Given the description of an element on the screen output the (x, y) to click on. 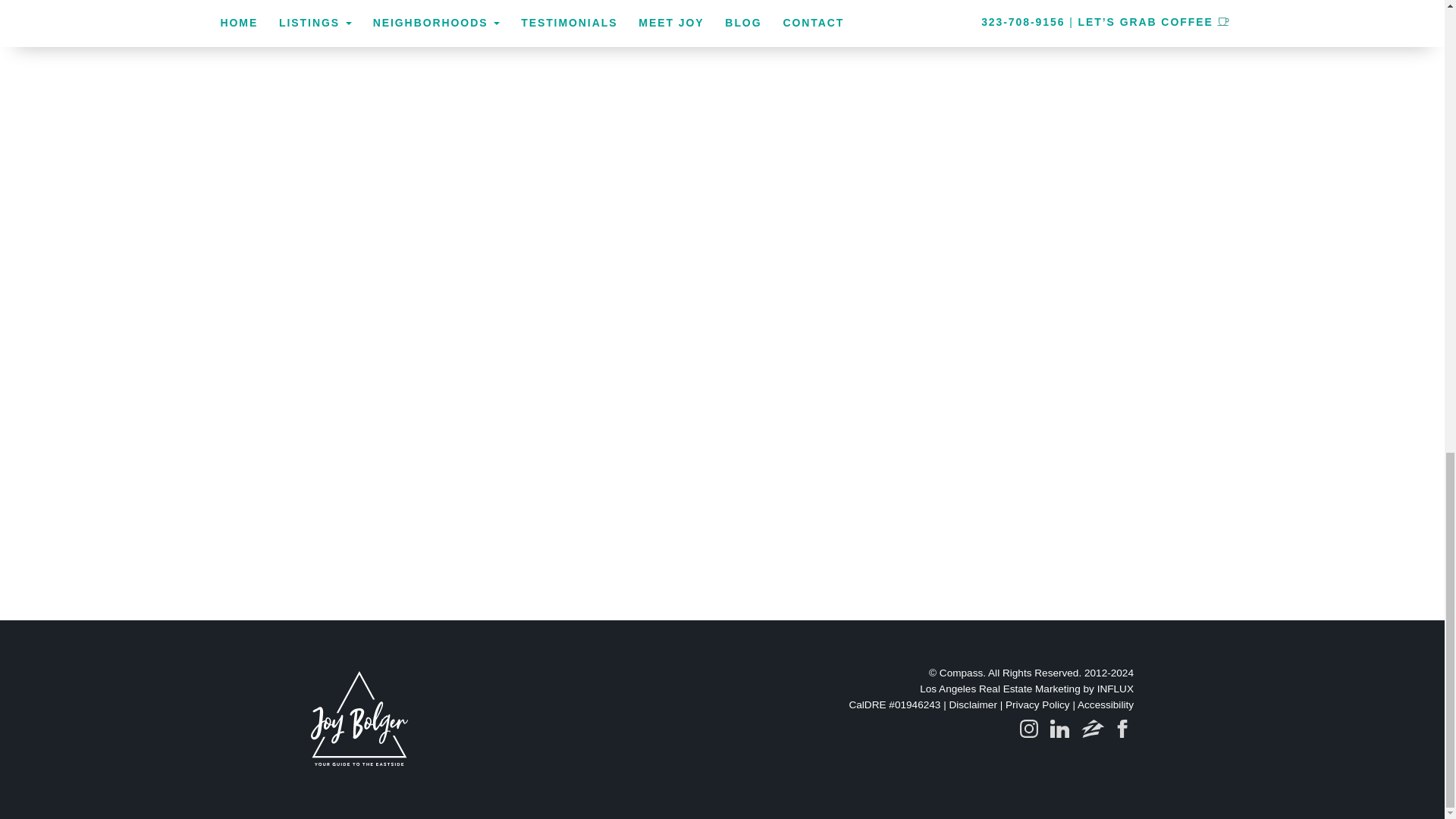
Artboard 1 (1122, 740)
zillow (1092, 740)
Privacy Policy (1038, 704)
Disclaimer (972, 704)
Accessibility (1105, 704)
Los Angeles Real Estate Marketing (1000, 688)
zillow (1093, 728)
Joy Bolger Realtor (359, 715)
